Given the description of an element on the screen output the (x, y) to click on. 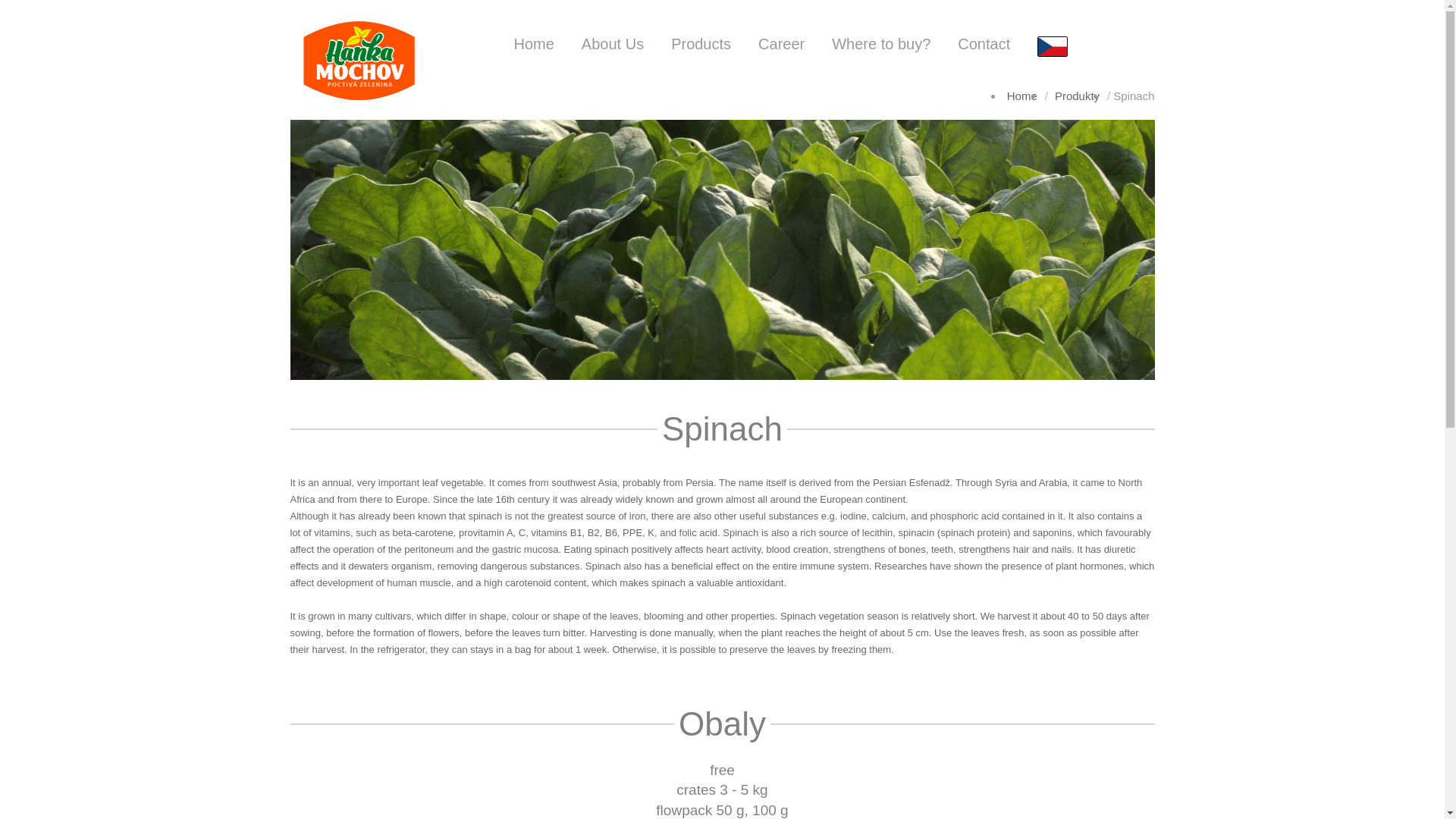
Home (1021, 95)
Produkty (1076, 95)
Home (533, 43)
Products (700, 43)
Contact (984, 43)
Where to buy? (881, 43)
About Us (612, 43)
Career (780, 43)
